Given the description of an element on the screen output the (x, y) to click on. 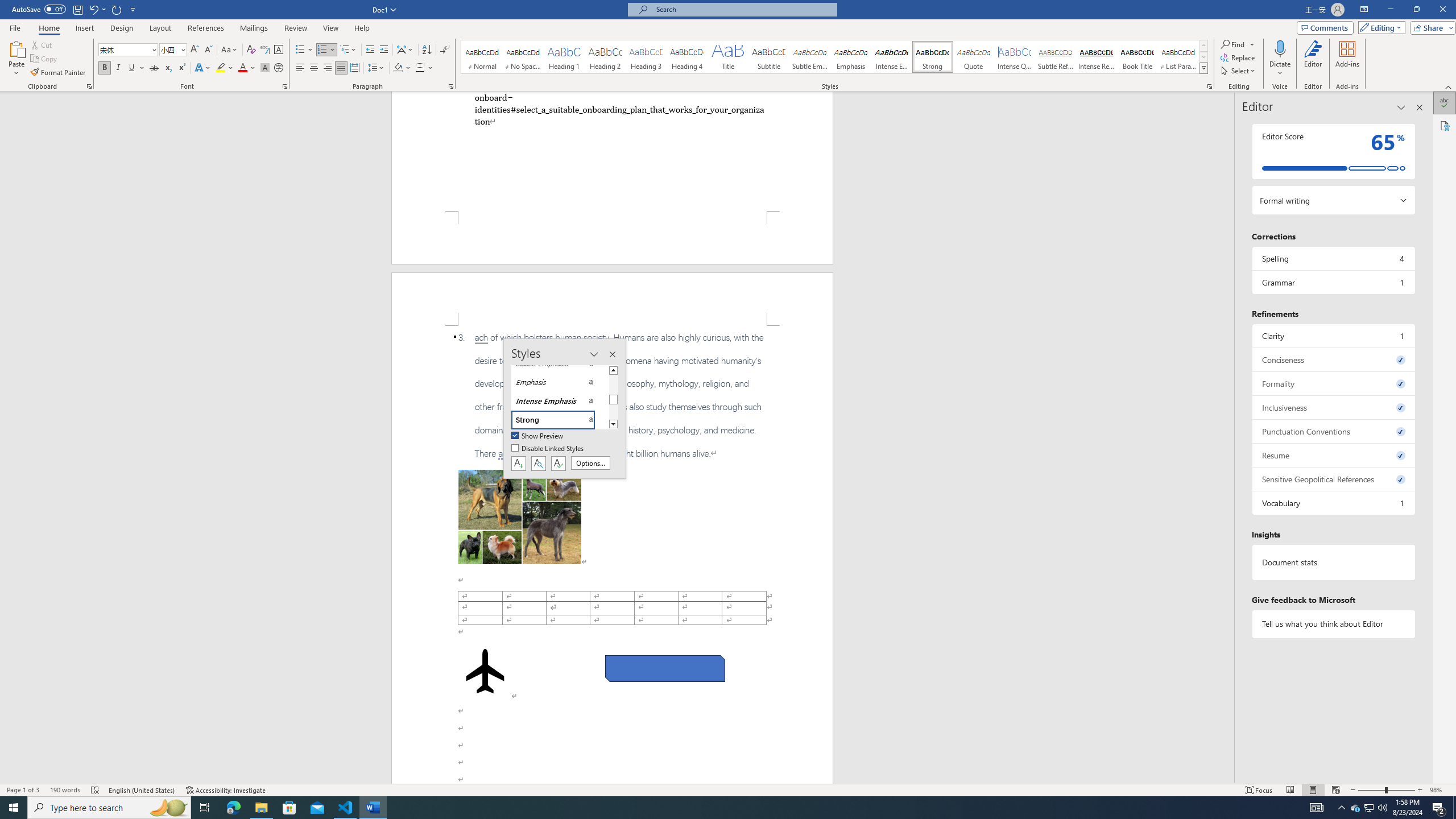
Spelling, 4 issues. Press space or enter to review items. (1333, 258)
Show Preview (537, 436)
Rectangle: Diagonal Corners Snipped 2 (665, 668)
Clarity, 1 issue. Press space or enter to review items. (1333, 335)
